Given the description of an element on the screen output the (x, y) to click on. 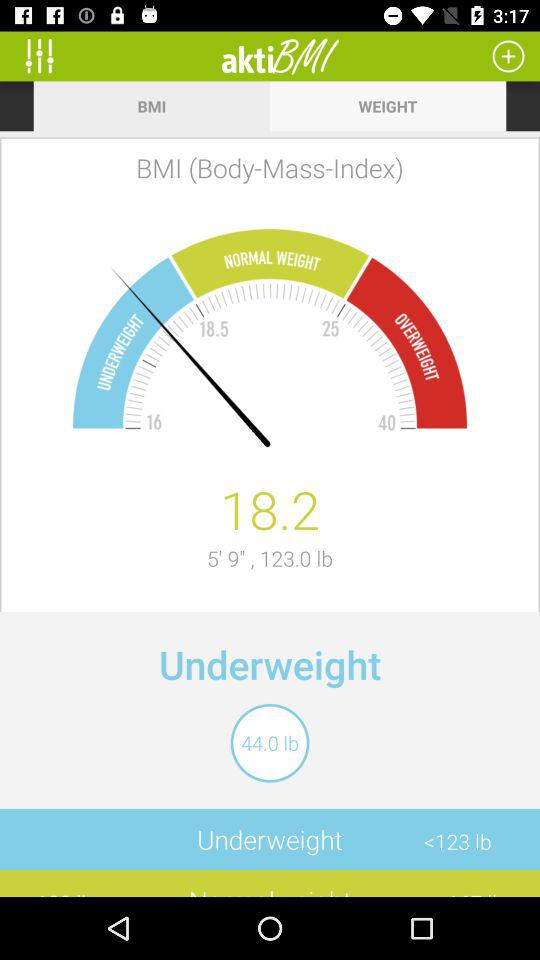
select the add icon which is on the top right side below time (508, 55)
